Given the description of an element on the screen output the (x, y) to click on. 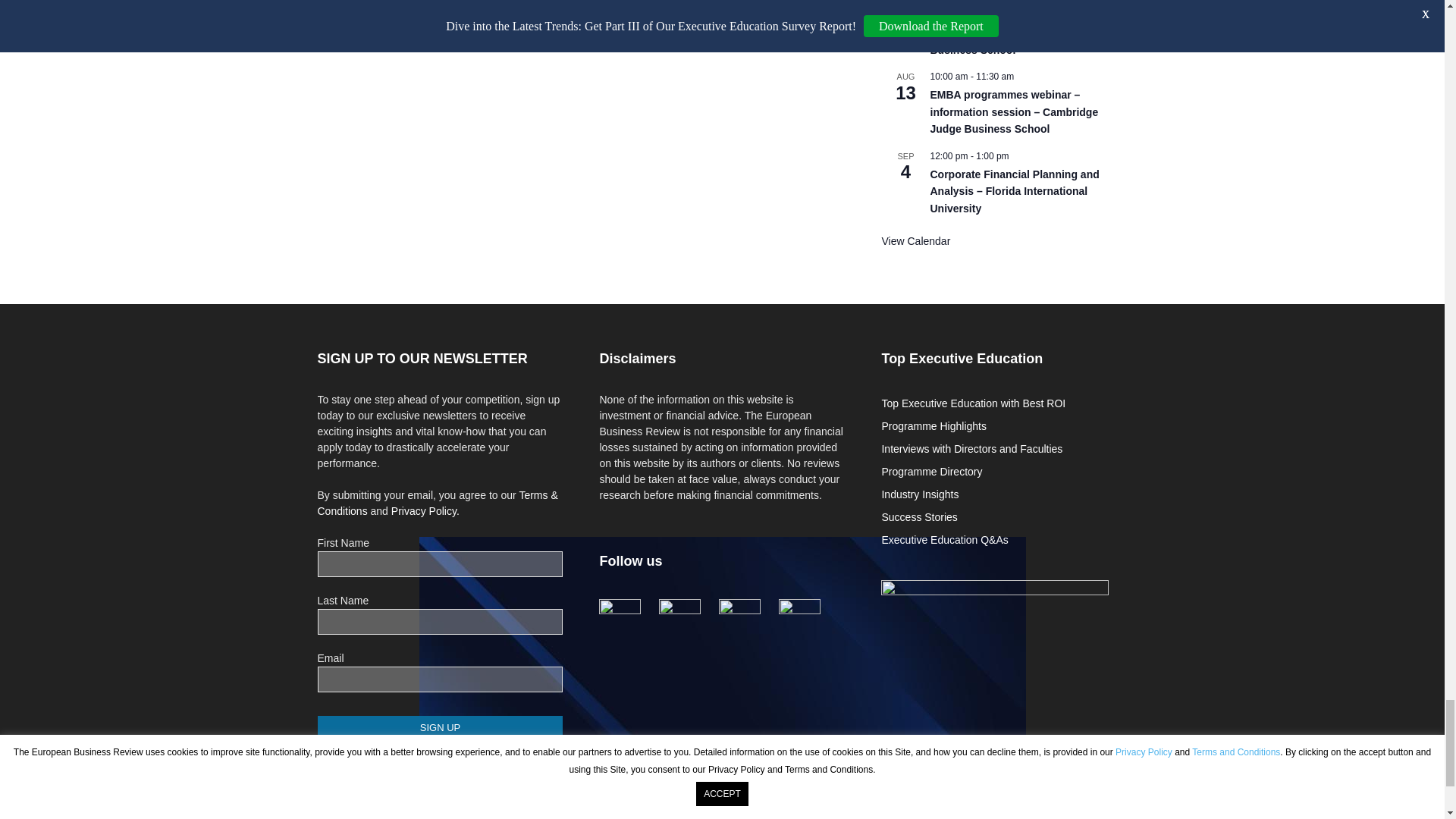
SIGN UP (439, 727)
